Given the description of an element on the screen output the (x, y) to click on. 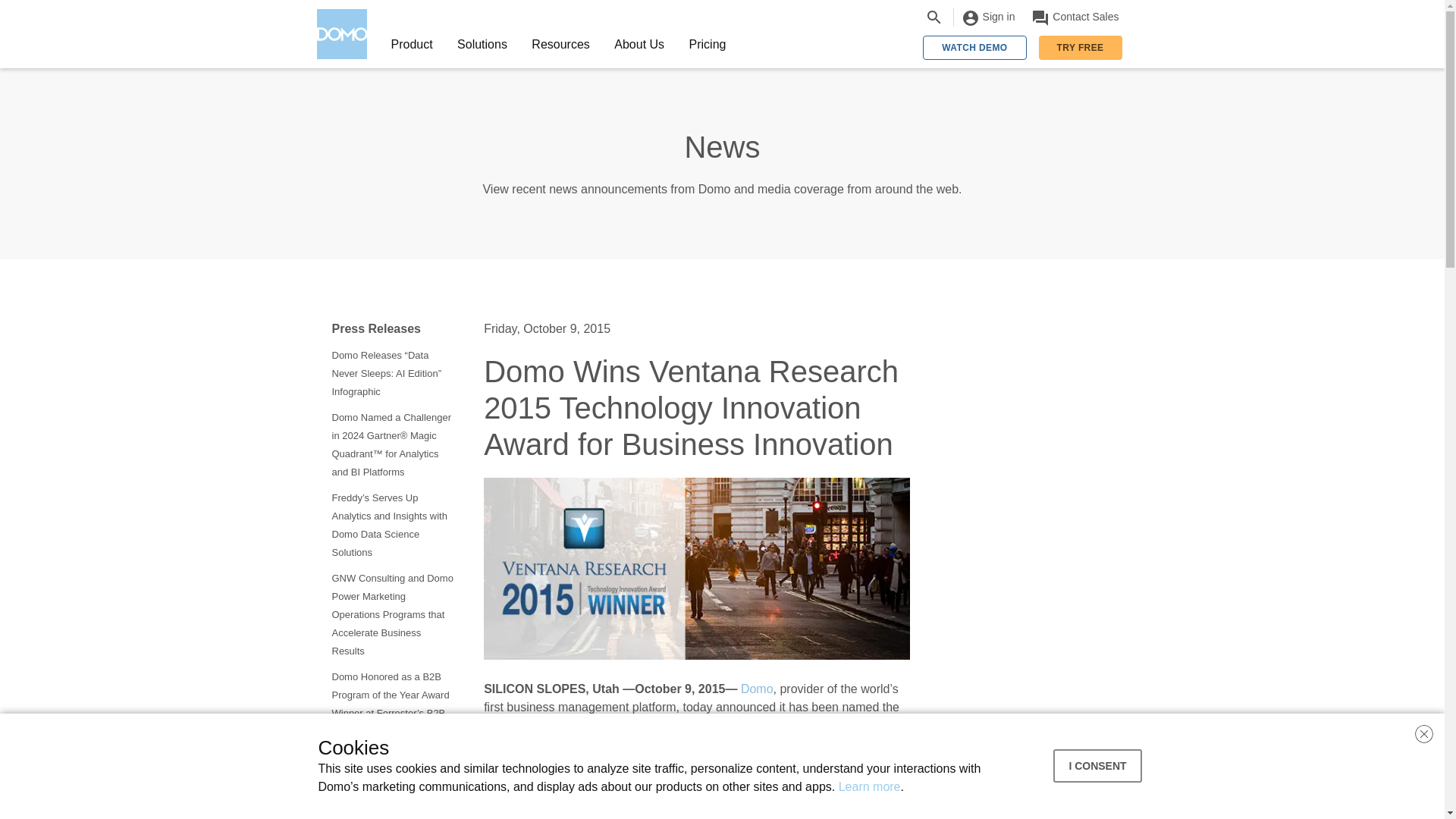
About Us (639, 44)
Solutions (482, 44)
Product (411, 44)
Pricing (707, 44)
Resources (560, 44)
